Given the description of an element on the screen output the (x, y) to click on. 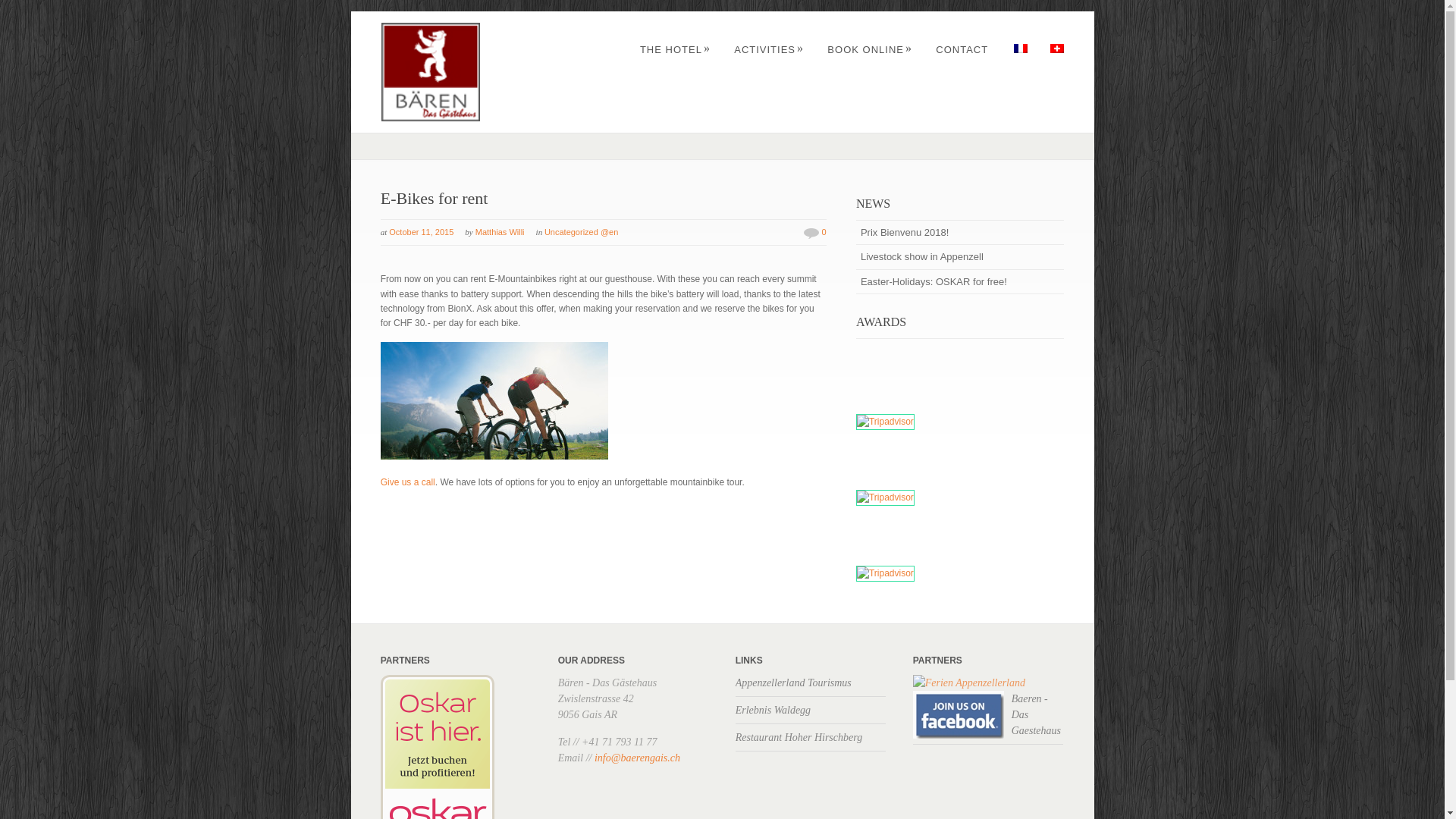
info@baerengais.ch Element type: text (637, 757)
Urlaub Appenzell Element type: hover (969, 682)
Uncategorized @en Element type: text (581, 231)
Prix Bienvenu 2018! Element type: text (958, 232)
Matthias Willi Element type: text (499, 231)
Livestock show in Appenzell Element type: text (958, 256)
Give us a call Element type: text (407, 481)
Appenzellerland Tourismus Element type: text (793, 682)
October 11, 2015 Element type: text (421, 231)
CONTACT Element type: text (961, 49)
Restaurant Hoher Hirschberg Element type: text (798, 737)
Easter-Holidays: OSKAR for free! Element type: text (958, 281)
Baeren - Das Gaestehaus Element type: text (1035, 714)
Erlebnis Waldegg Element type: text (772, 709)
Mountainbikes for rent Element type: hover (494, 400)
0 Element type: text (824, 231)
